Given the description of an element on the screen output the (x, y) to click on. 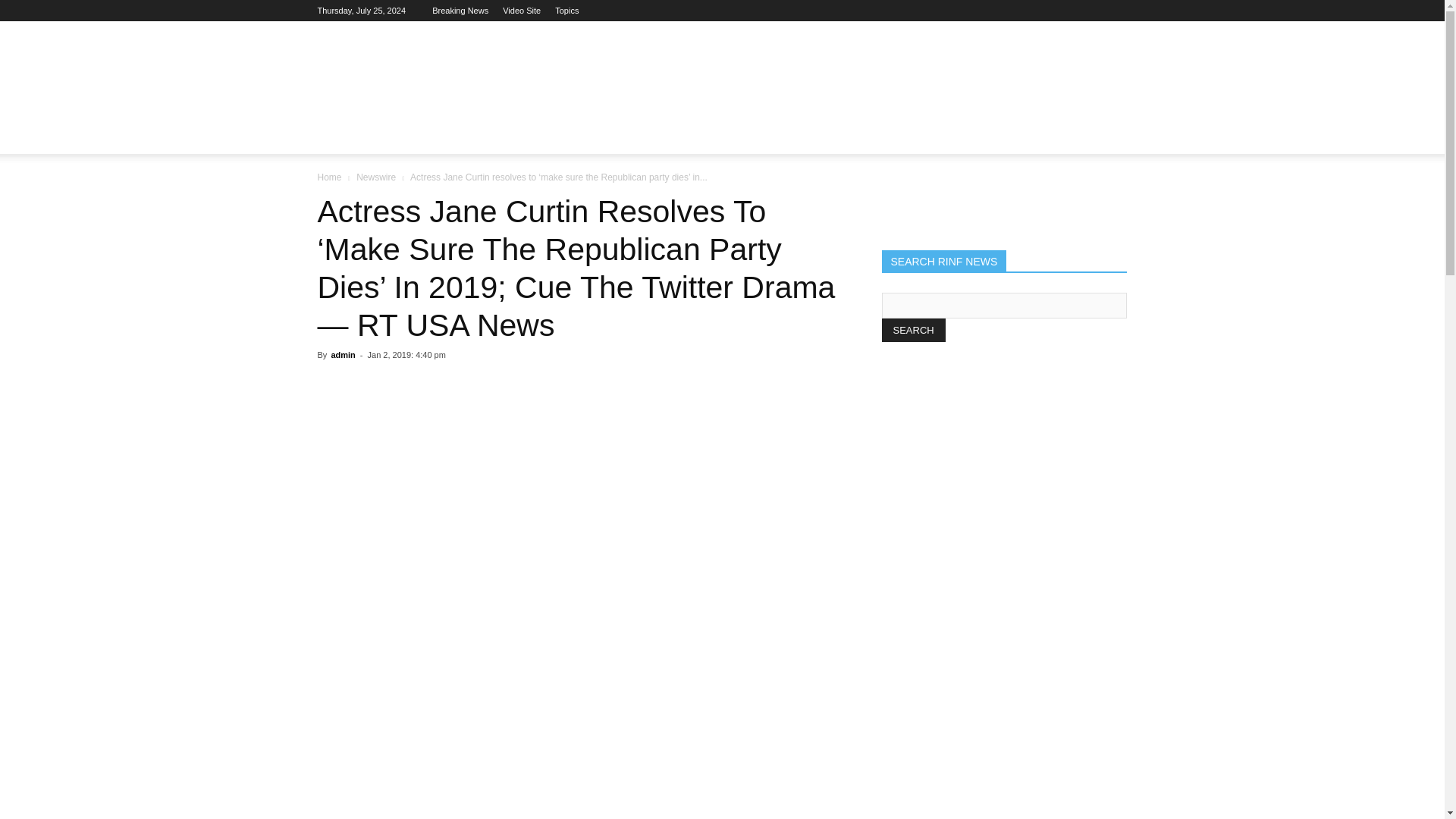
HOME (343, 135)
Home (328, 176)
RINF REPORTS (419, 135)
SEARCH (912, 330)
admin (342, 354)
Newswire (376, 176)
Breaking News (459, 10)
Video Site (521, 10)
Search (1085, 196)
Topics (566, 10)
